Given the description of an element on the screen output the (x, y) to click on. 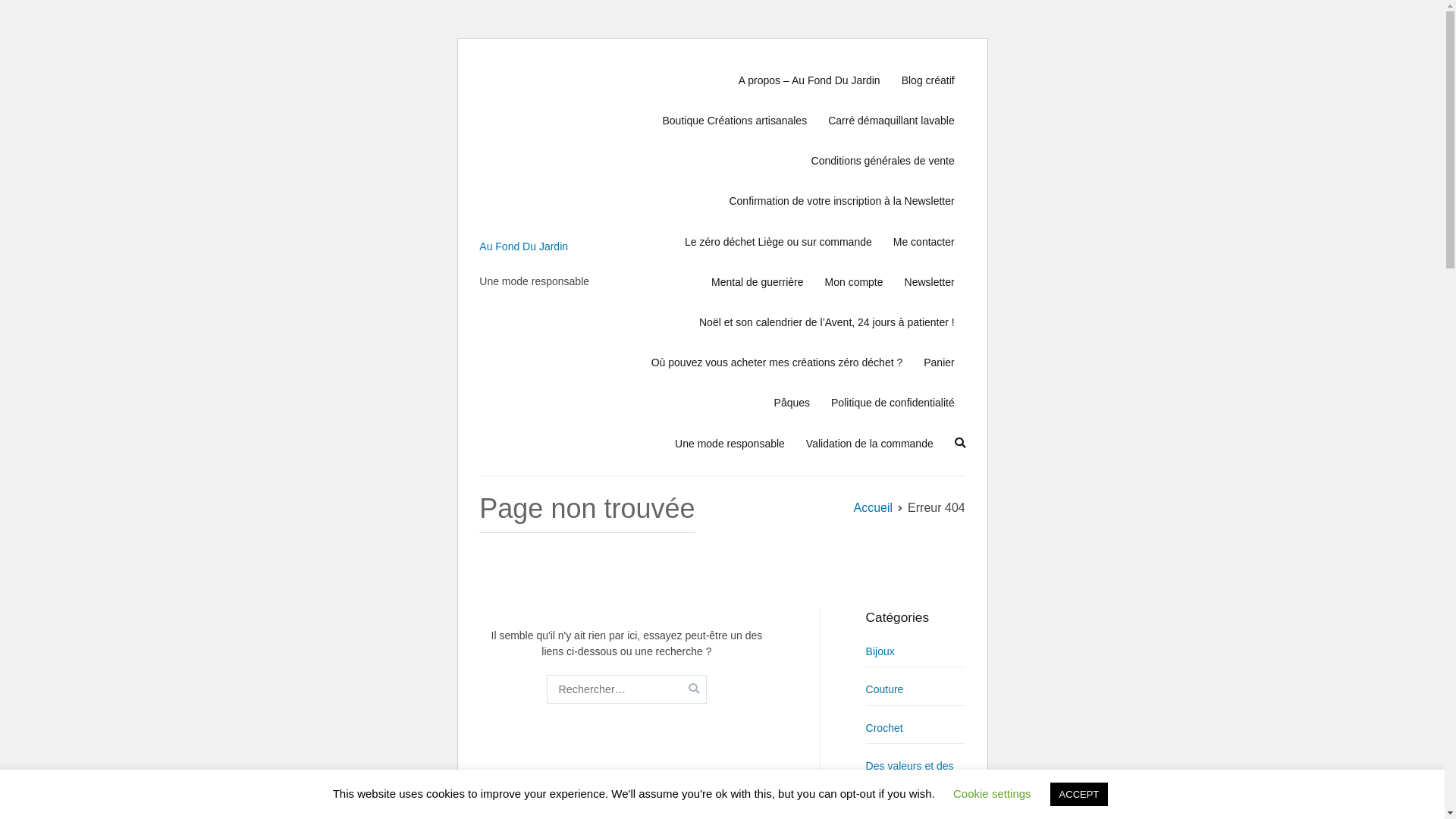
Aller au contenu Element type: text (478, 48)
Cookie settings Element type: text (992, 793)
Validation de la commande Element type: text (869, 443)
Crochet Element type: text (884, 728)
Rechercher Element type: text (39, 13)
Bijoux Element type: text (880, 651)
Au Fond Du Jardin Element type: text (523, 246)
Panier Element type: text (938, 362)
Des valeurs et des choix Element type: text (915, 775)
Couture Element type: text (884, 689)
Accueil Element type: text (873, 507)
Newsletter Element type: text (929, 282)
Une mode responsable Element type: text (729, 443)
ACCEPT Element type: text (1079, 794)
Me contacter Element type: text (923, 241)
Mon compte Element type: text (854, 282)
